Given the description of an element on the screen output the (x, y) to click on. 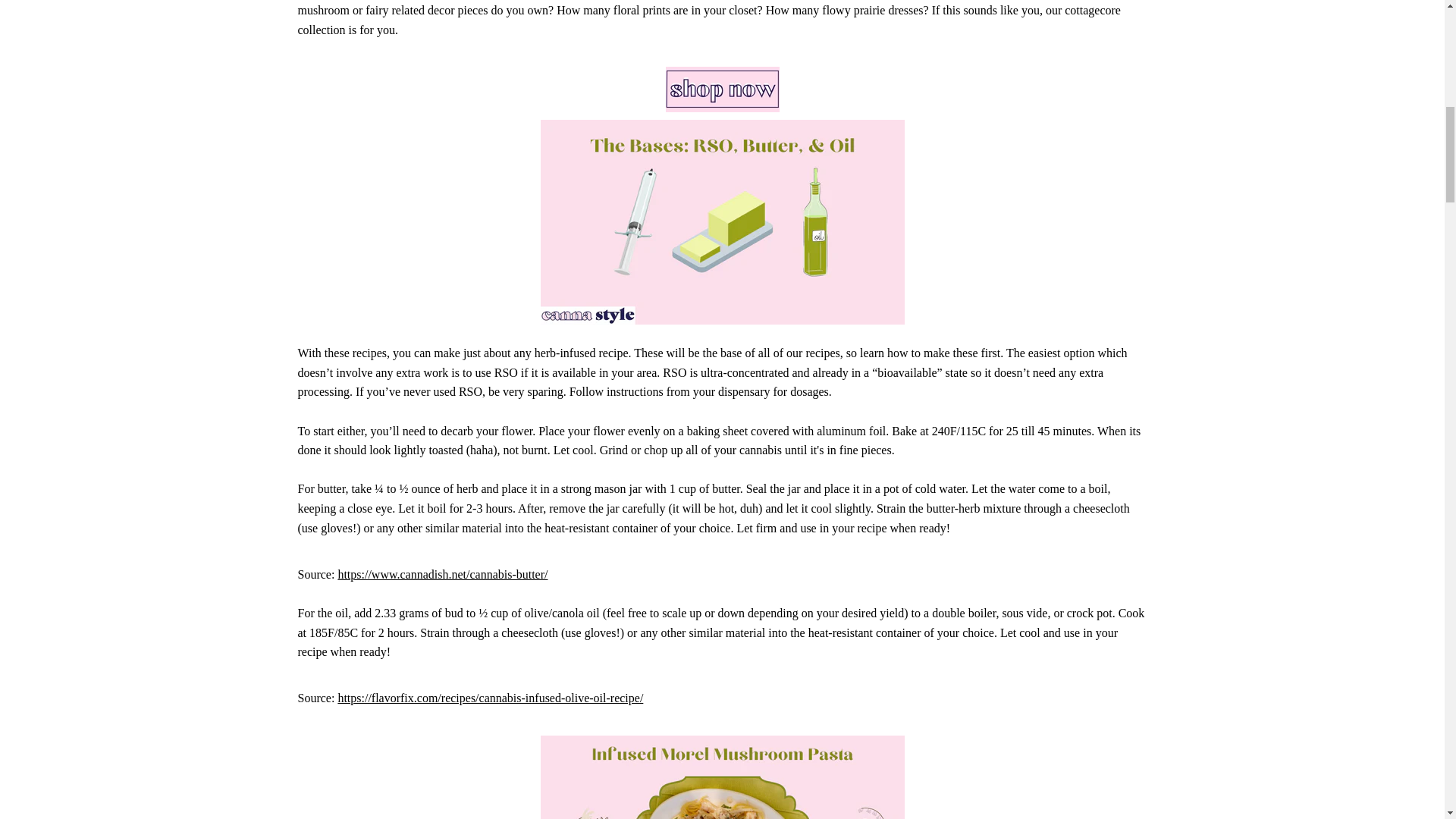
SHOP NOW COTTAGECORE FROG COLLECTION ON CANNA STYLE (722, 89)
Cannabis Butter Recipe (442, 574)
Cannabis Olive Oil Recipe (490, 697)
